Given the description of an element on the screen output the (x, y) to click on. 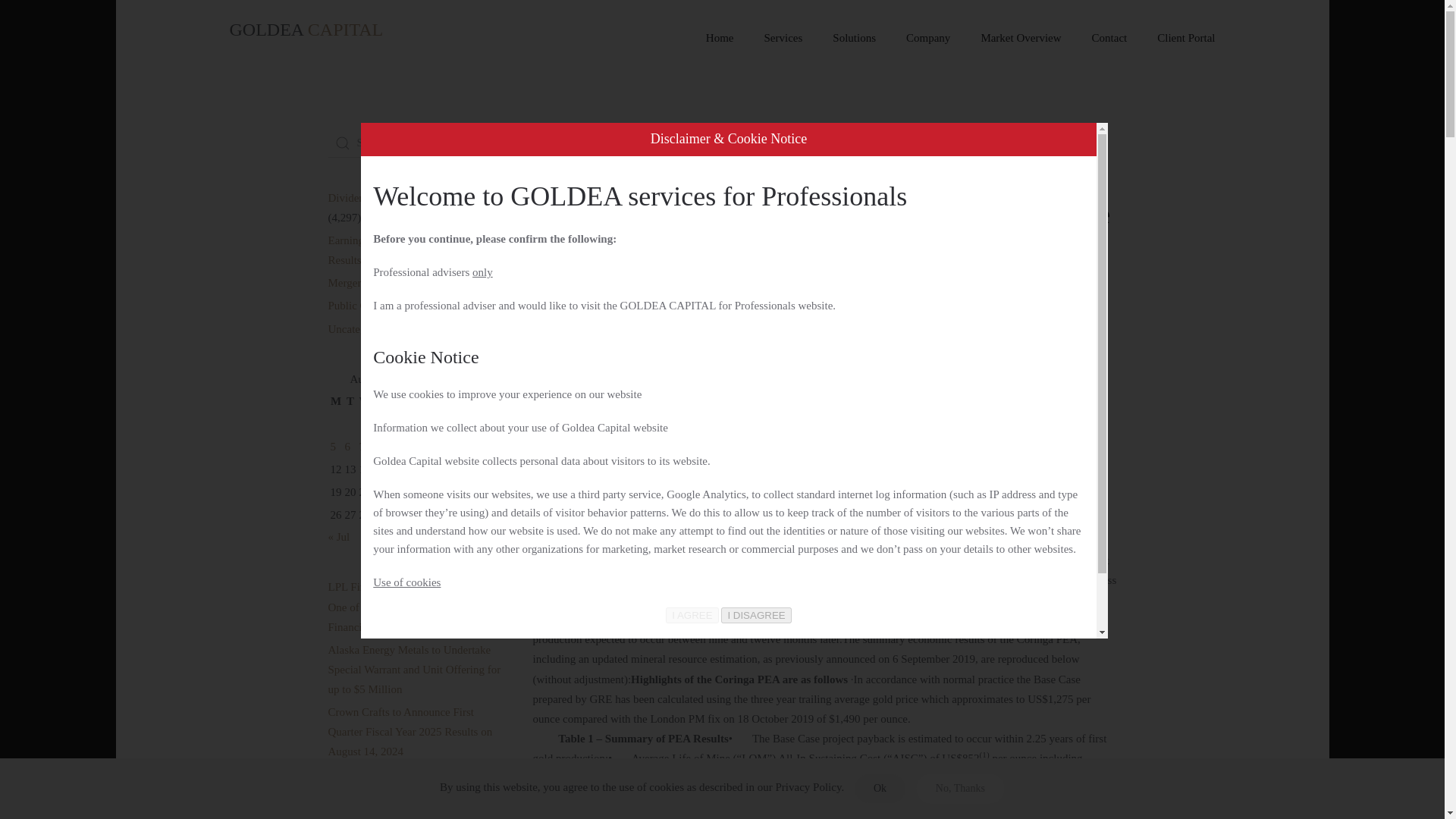
Services (783, 38)
Mergers And Acquisitions (386, 282)
I AGREE (691, 615)
Uncategorized (360, 328)
Public Companies (953, 319)
Company (928, 38)
Earnings Releases And Operating Results (403, 250)
I DISAGREE (755, 615)
Public Companies (679, 139)
Market Overview (1020, 38)
